Given the description of an element on the screen output the (x, y) to click on. 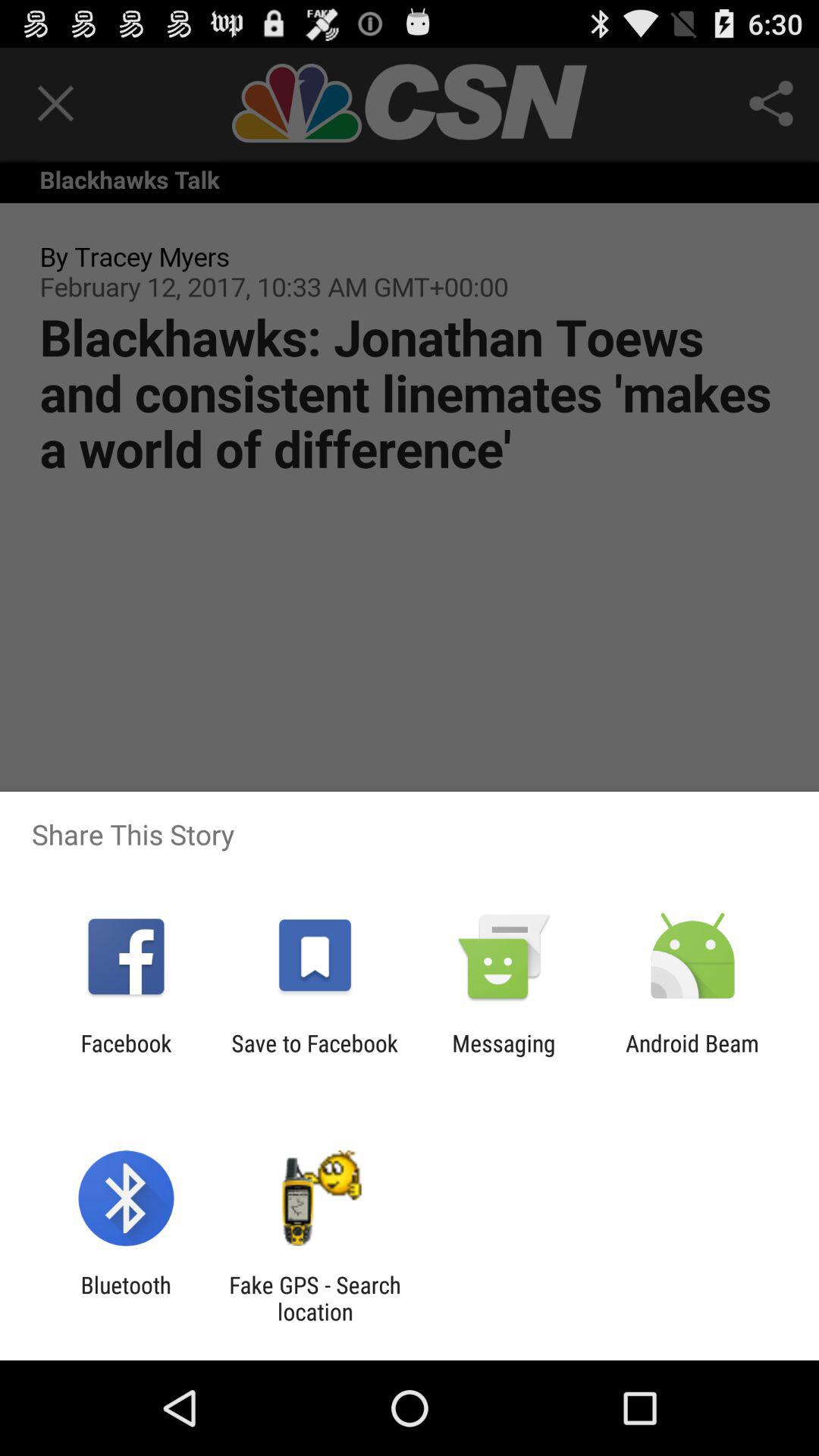
turn off the app next to save to facebook (503, 1056)
